Given the description of an element on the screen output the (x, y) to click on. 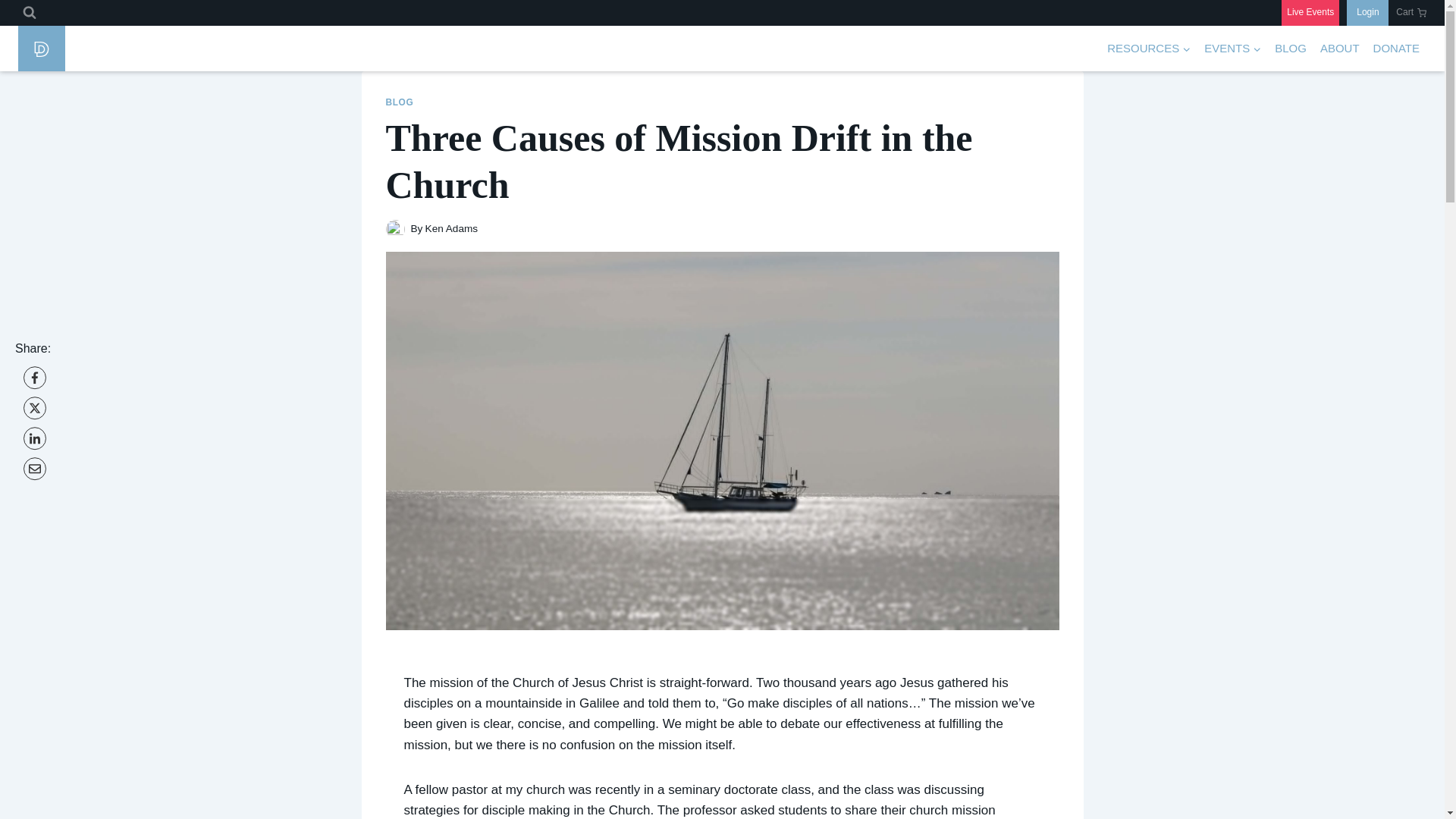
Live Events (1310, 12)
Cart (1411, 11)
EVENTS (1232, 48)
Ken Adams (452, 228)
BLOG (1290, 48)
ABOUT (1340, 48)
BLOG (399, 102)
Login (1367, 12)
DONATE (1396, 48)
RESOURCES (1148, 48)
